Given the description of an element on the screen output the (x, y) to click on. 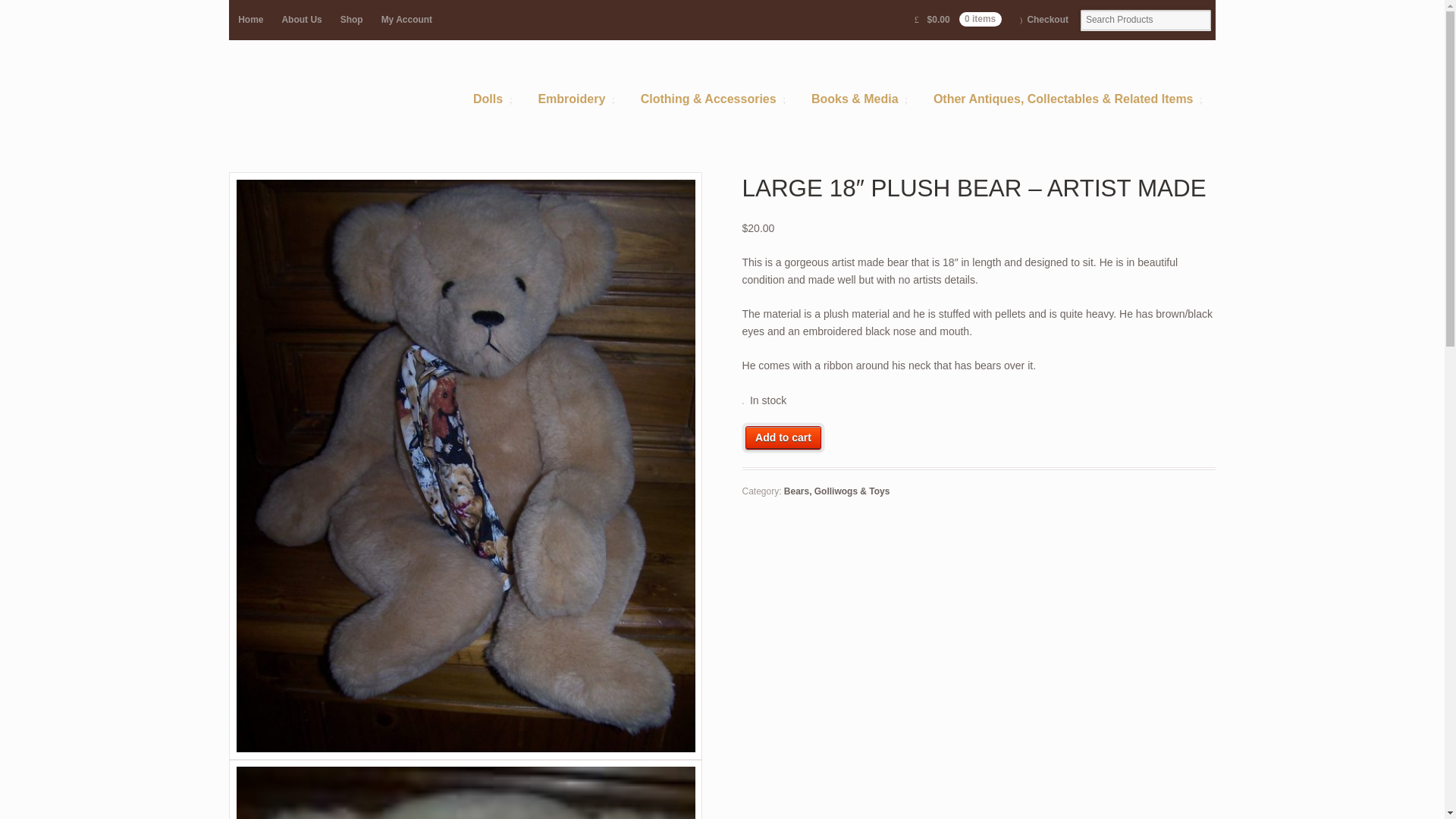
My Account (406, 20)
About Us (301, 20)
Checkout (1043, 20)
Home (250, 20)
ArtistMadeBearWithTeddyTiePhoto2 (464, 789)
Embroidery (575, 99)
Shop (351, 20)
View your shopping cart (957, 20)
Search (65, 10)
Dolls (492, 99)
Add to cart (783, 437)
